Given the description of an element on the screen output the (x, y) to click on. 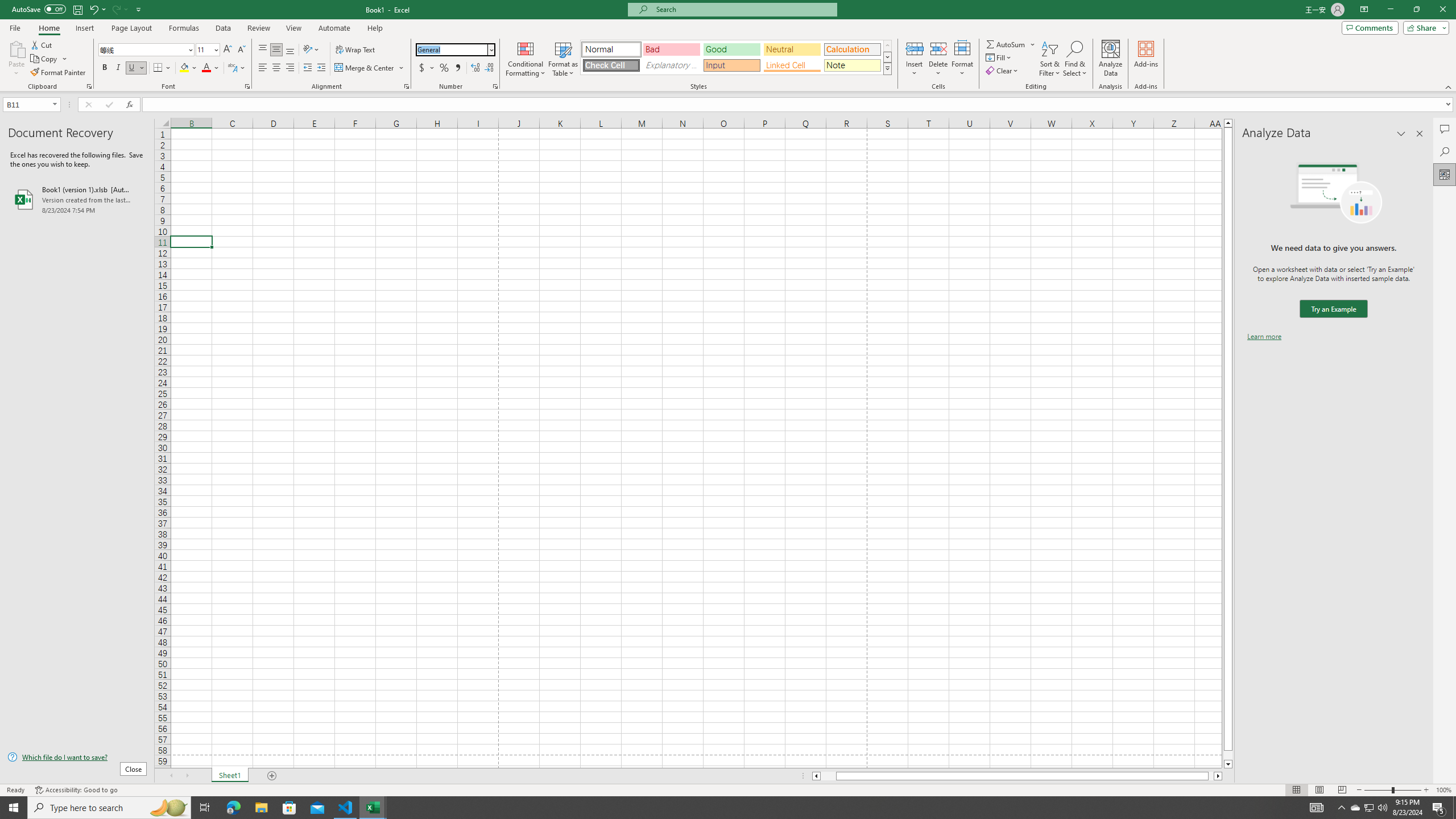
Decrease Font Size (240, 49)
Number Format (451, 49)
Align Right (290, 67)
Merge & Center (365, 67)
Check Cell (611, 65)
